Given the description of an element on the screen output the (x, y) to click on. 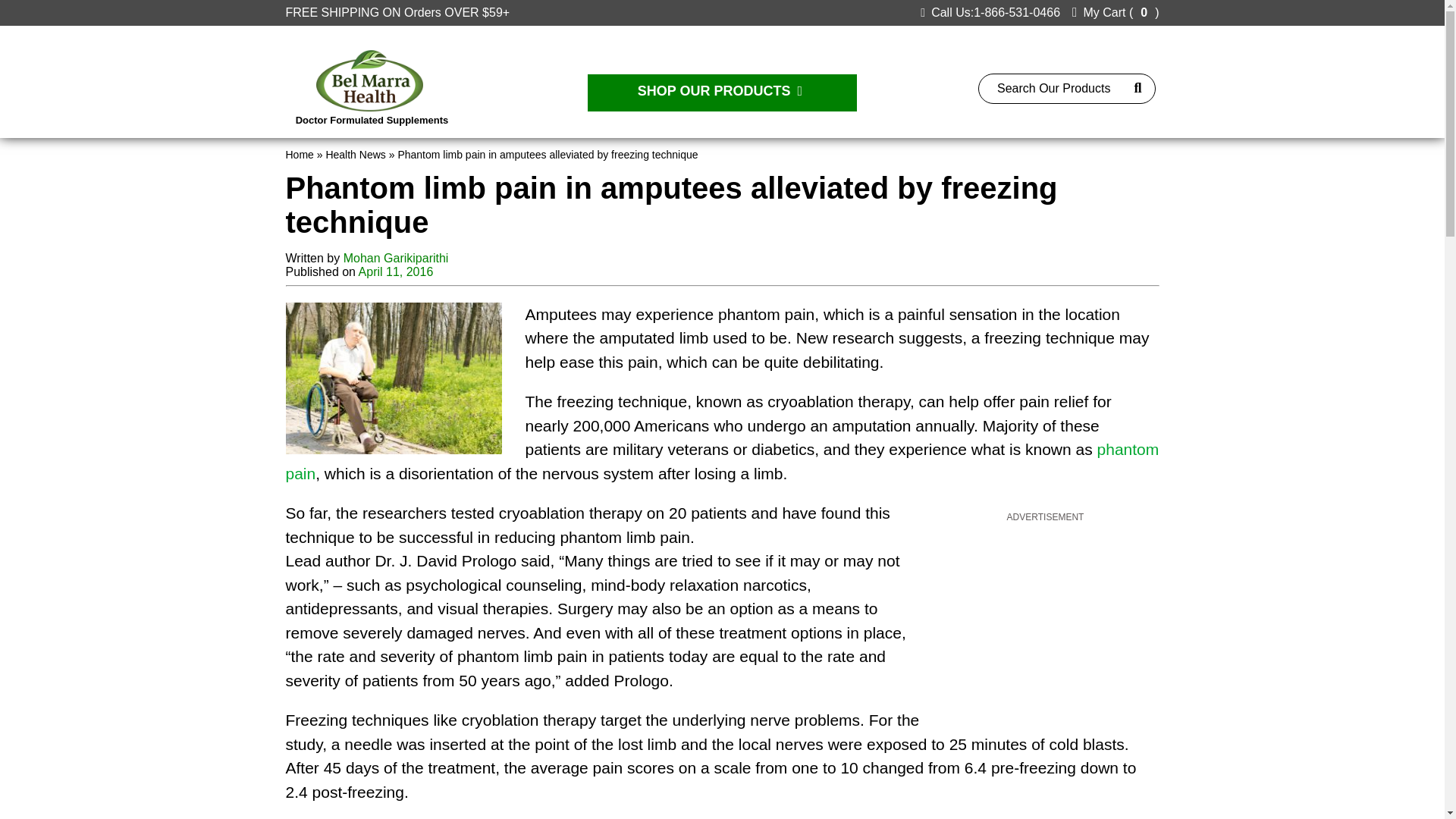
Skip to the content (50, 6)
Posts by Mohan Garikiparithi (395, 257)
SHOP OUR PRODUCTS (721, 92)
Call Us:1-866-531-0466 (989, 11)
